Given the description of an element on the screen output the (x, y) to click on. 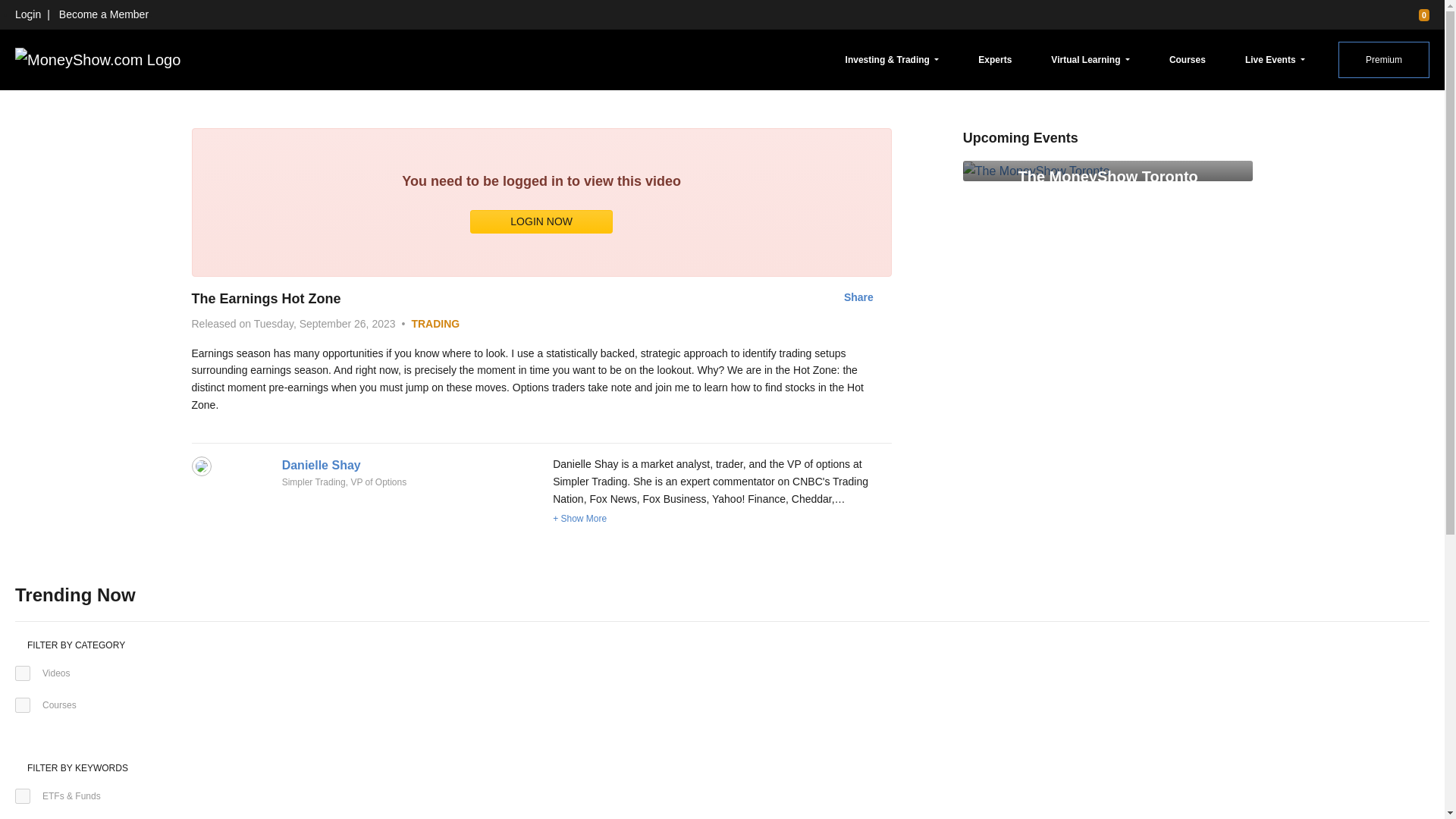
Live Events (1275, 59)
Videos (22, 672)
TRADING (435, 323)
Experts (994, 59)
Courses (1187, 59)
Danielle Shay (321, 464)
Courses (22, 704)
LOGIN NOW (541, 221)
Share (858, 297)
Become a Member (103, 14)
